Given the description of an element on the screen output the (x, y) to click on. 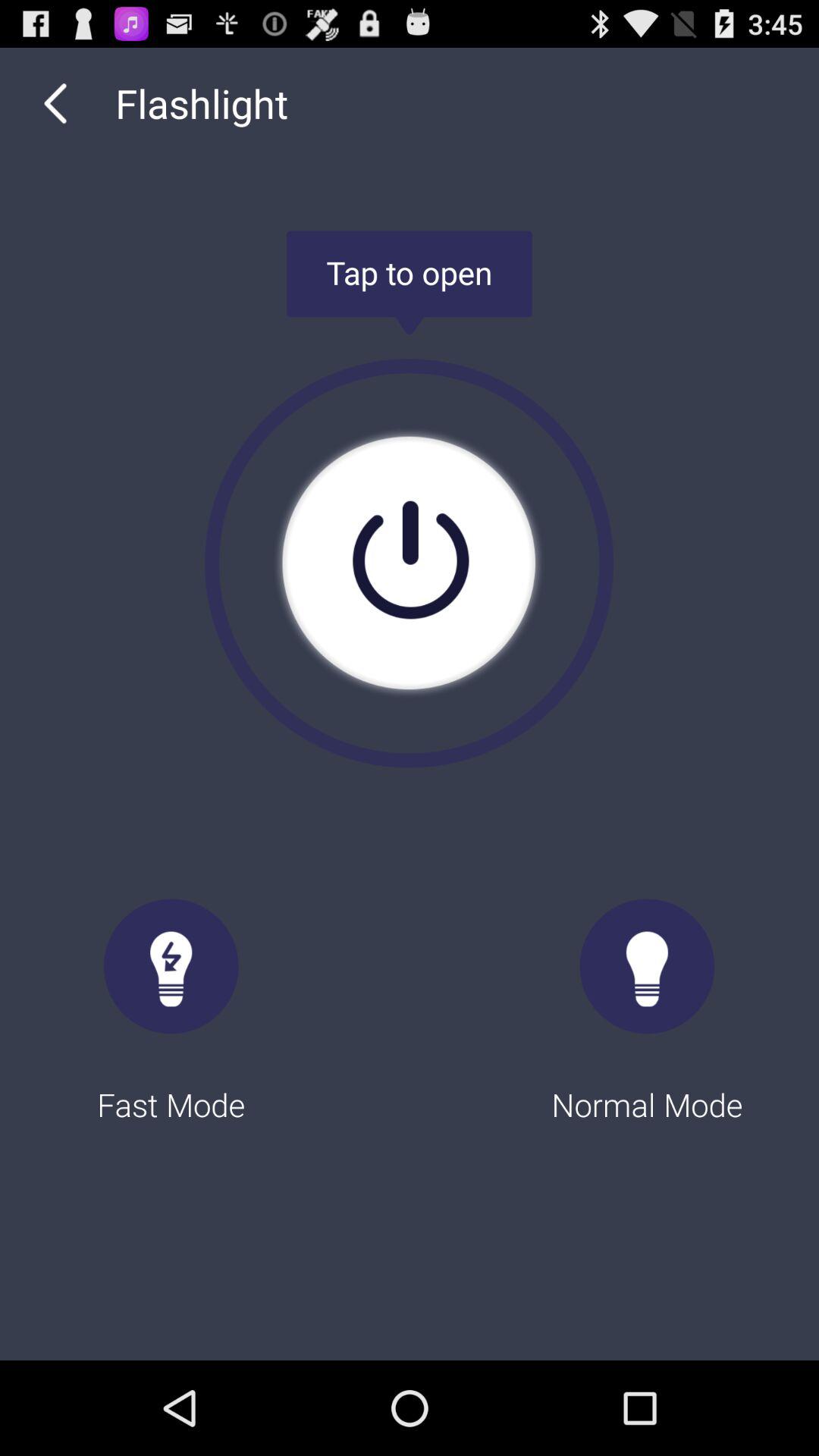
click radio button at the bottom left corner (171, 996)
